Given the description of an element on the screen output the (x, y) to click on. 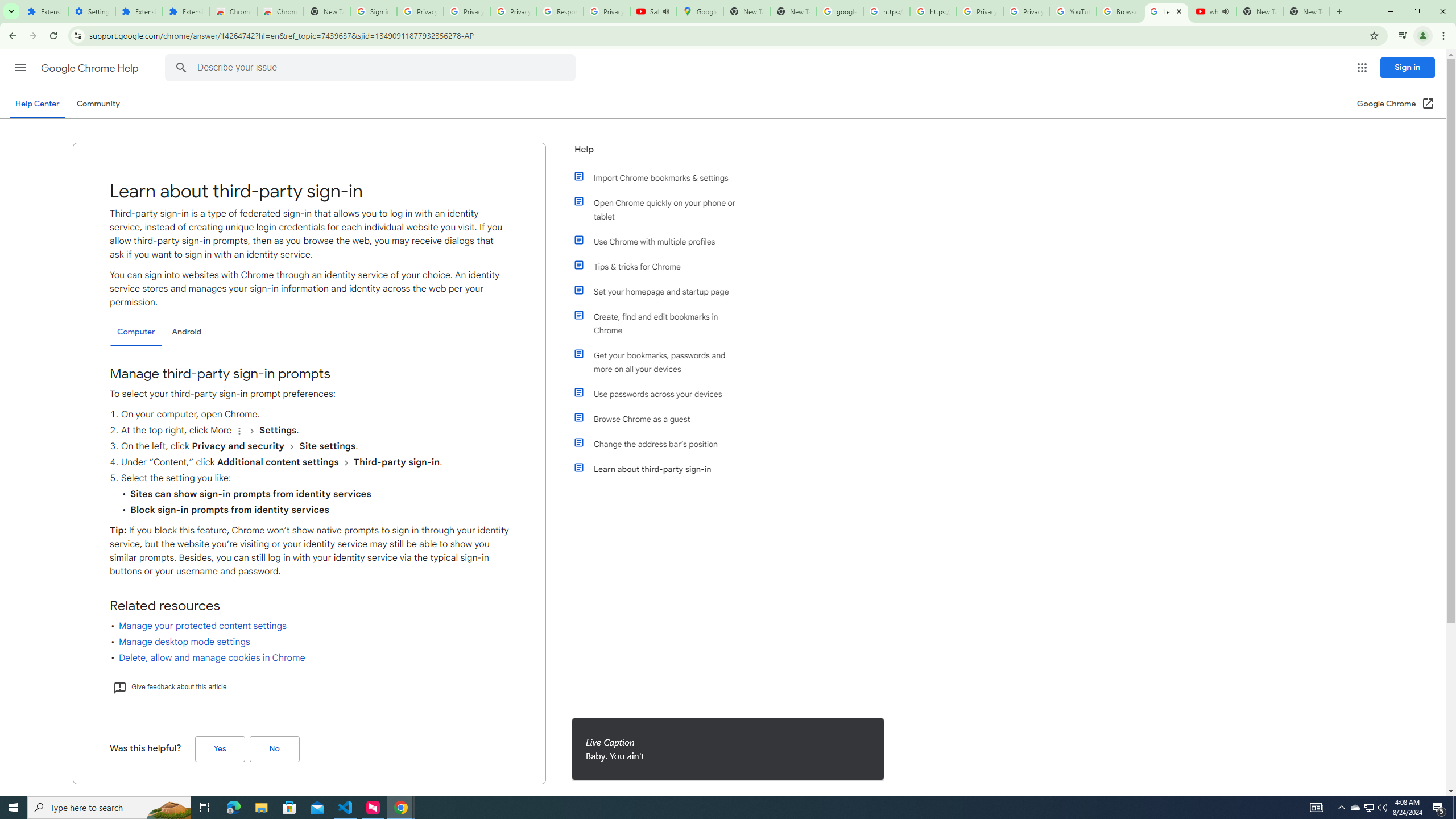
Extensions (138, 11)
Help Center (36, 103)
Delete, allow and manage cookies in Chrome (212, 657)
New Tab (326, 11)
Search Help Center (181, 67)
https://scholar.google.com/ (933, 11)
Use passwords across your devices (661, 394)
Yes (Was this helpful?) (219, 749)
Open Chrome quickly on your phone or tablet (661, 209)
